Given the description of an element on the screen output the (x, y) to click on. 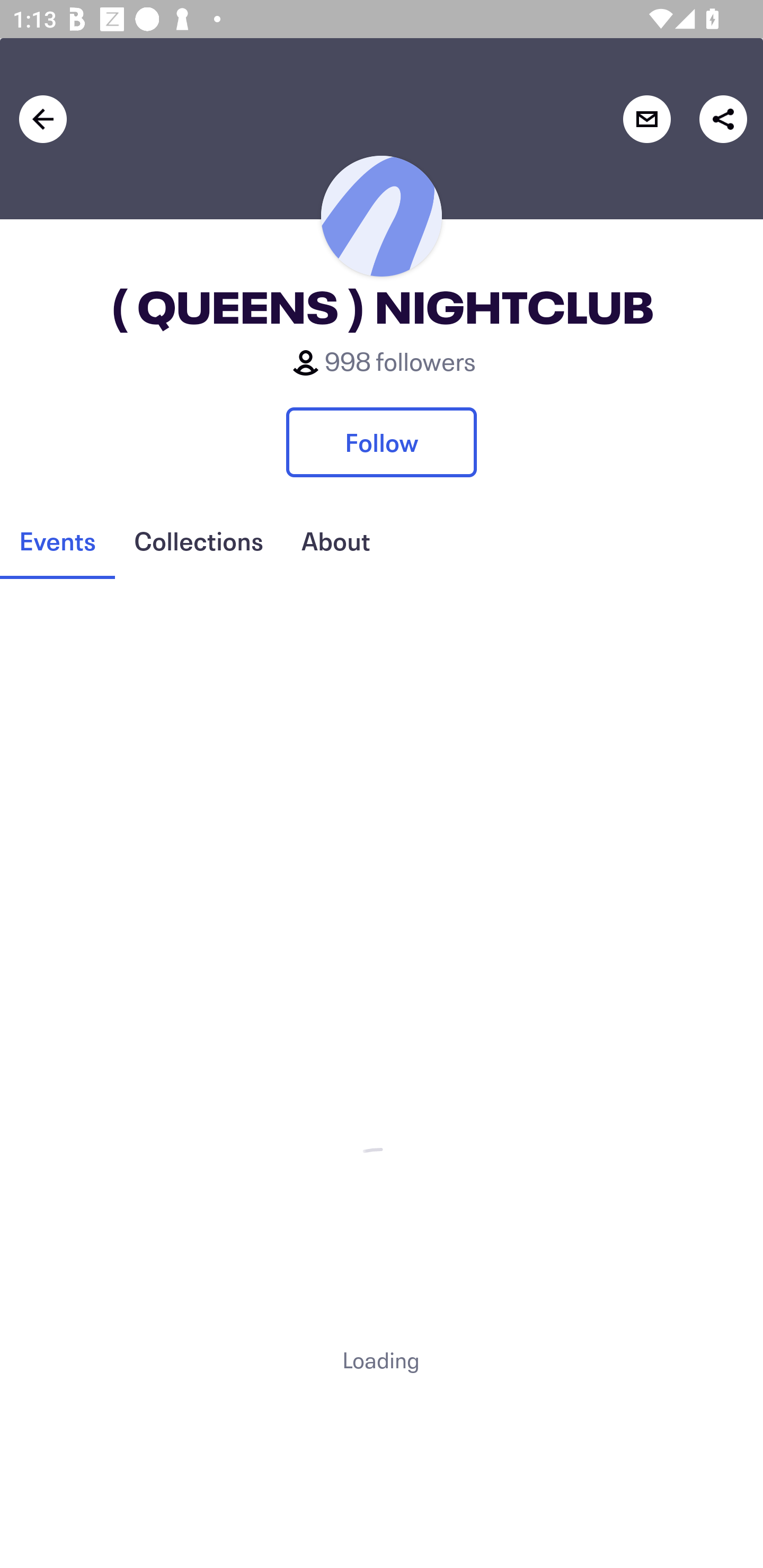
Favorite button (642, 130)
Overflow menu button (718, 130)
